Given the description of an element on the screen output the (x, y) to click on. 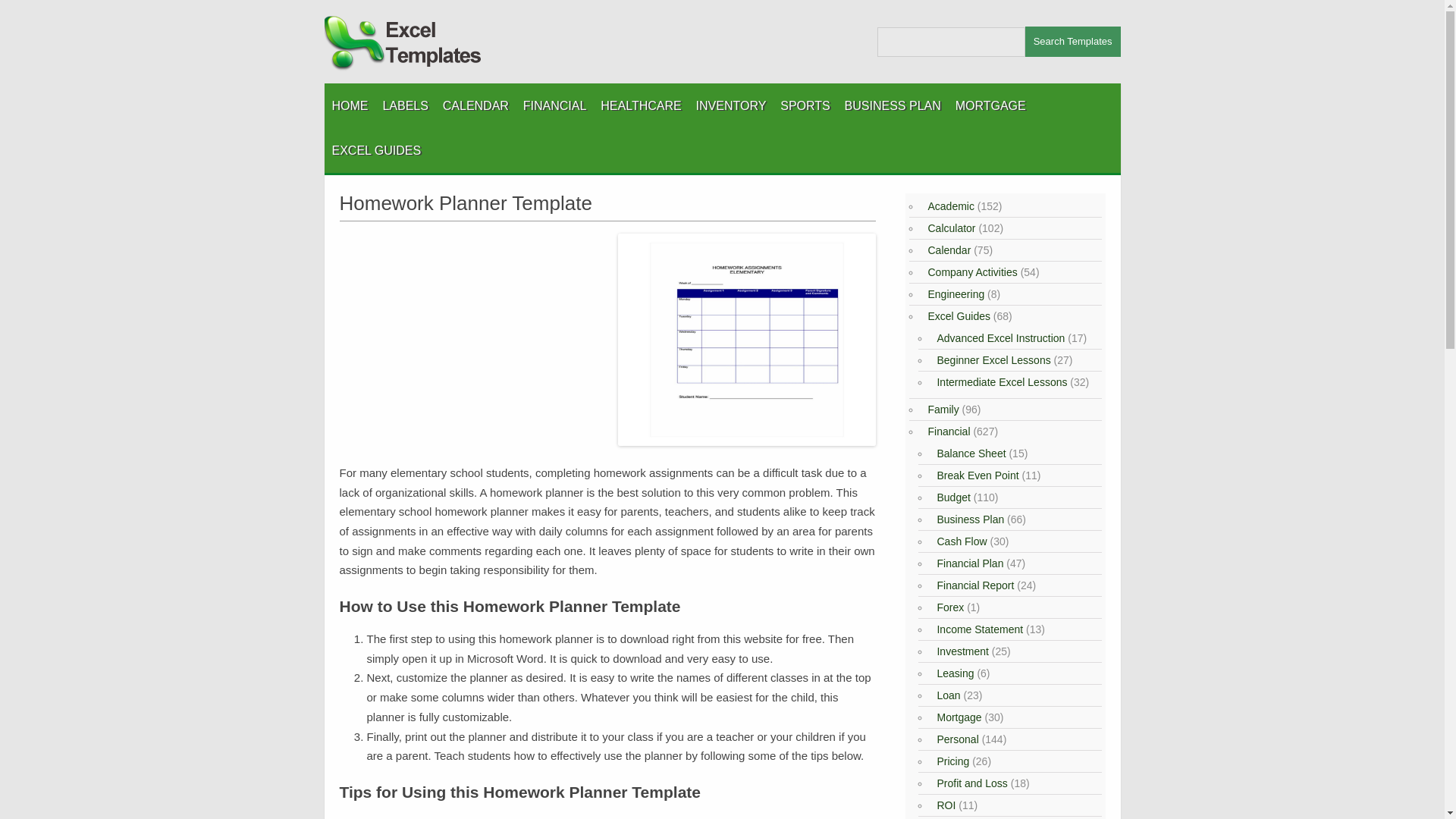
Balance Sheet (969, 453)
BEGINNER EXCEL LESSONS (407, 187)
BUSINESS PLAN (892, 105)
CALENDAR (475, 105)
FINANCIAL (554, 105)
Calendar (947, 250)
Intermediate Excel Lessons (1000, 381)
Cash Flow (960, 541)
Search Templates (1073, 41)
MORTGAGE (990, 105)
